Given the description of an element on the screen output the (x, y) to click on. 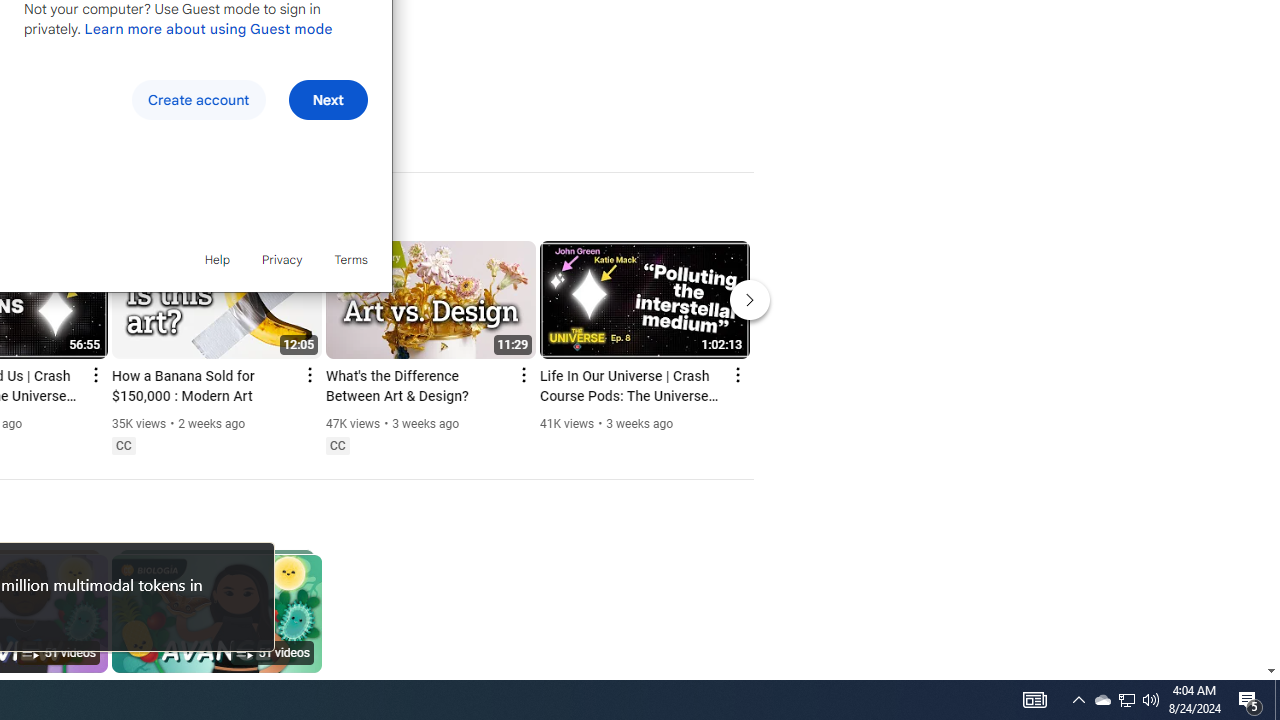
Next (328, 99)
User Promoted Notification Area (1126, 699)
Action Center, 5 new notifications (1102, 699)
AutomationID: 4105 (1250, 699)
